Given the description of an element on the screen output the (x, y) to click on. 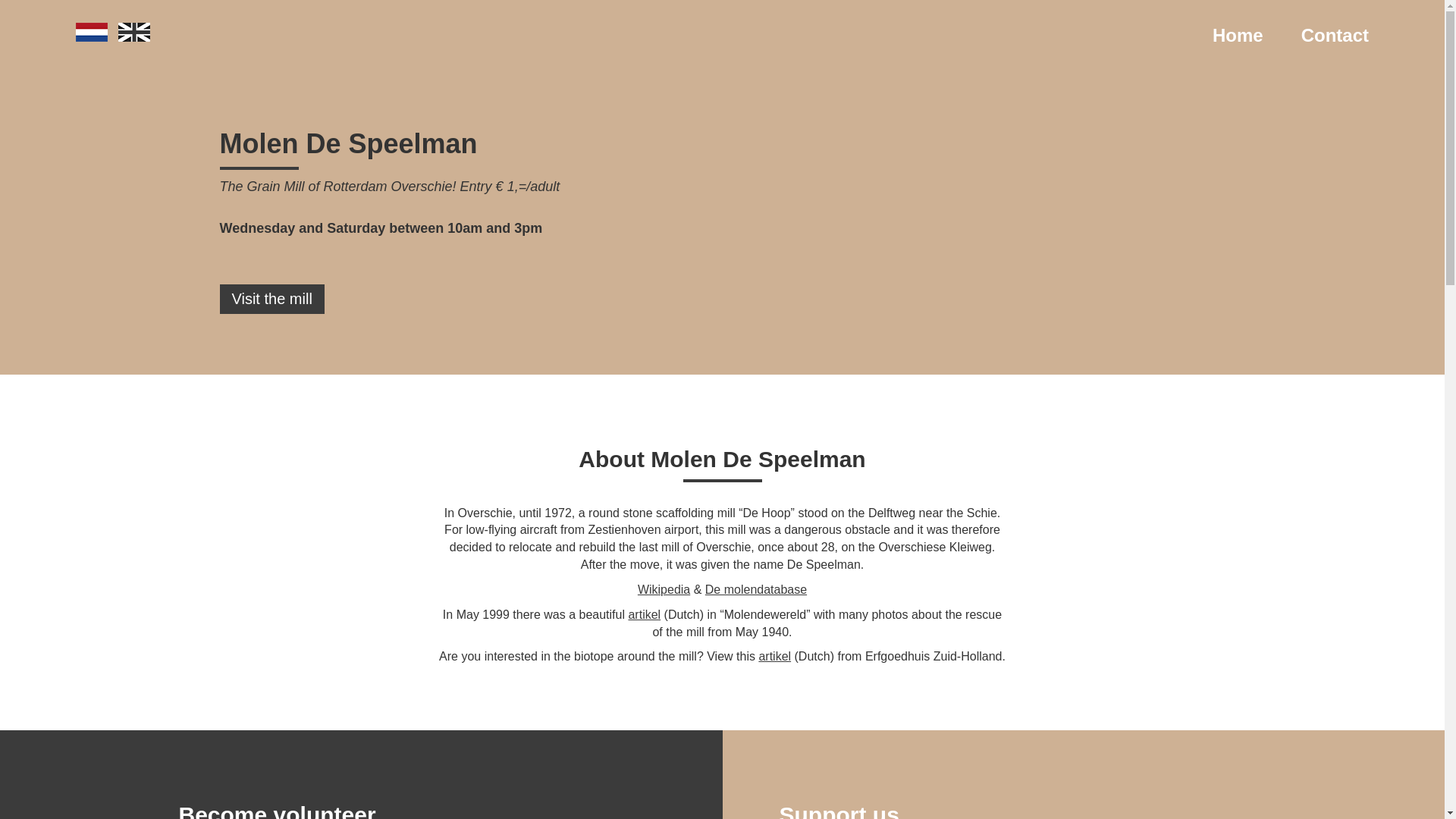
Contact (1334, 35)
Visit the mill (271, 298)
artikel (774, 656)
De molendatabase (755, 589)
Wikipedia (663, 589)
Home (1238, 35)
Home (1238, 35)
Contact (1334, 35)
artikel (644, 614)
